Given the description of an element on the screen output the (x, y) to click on. 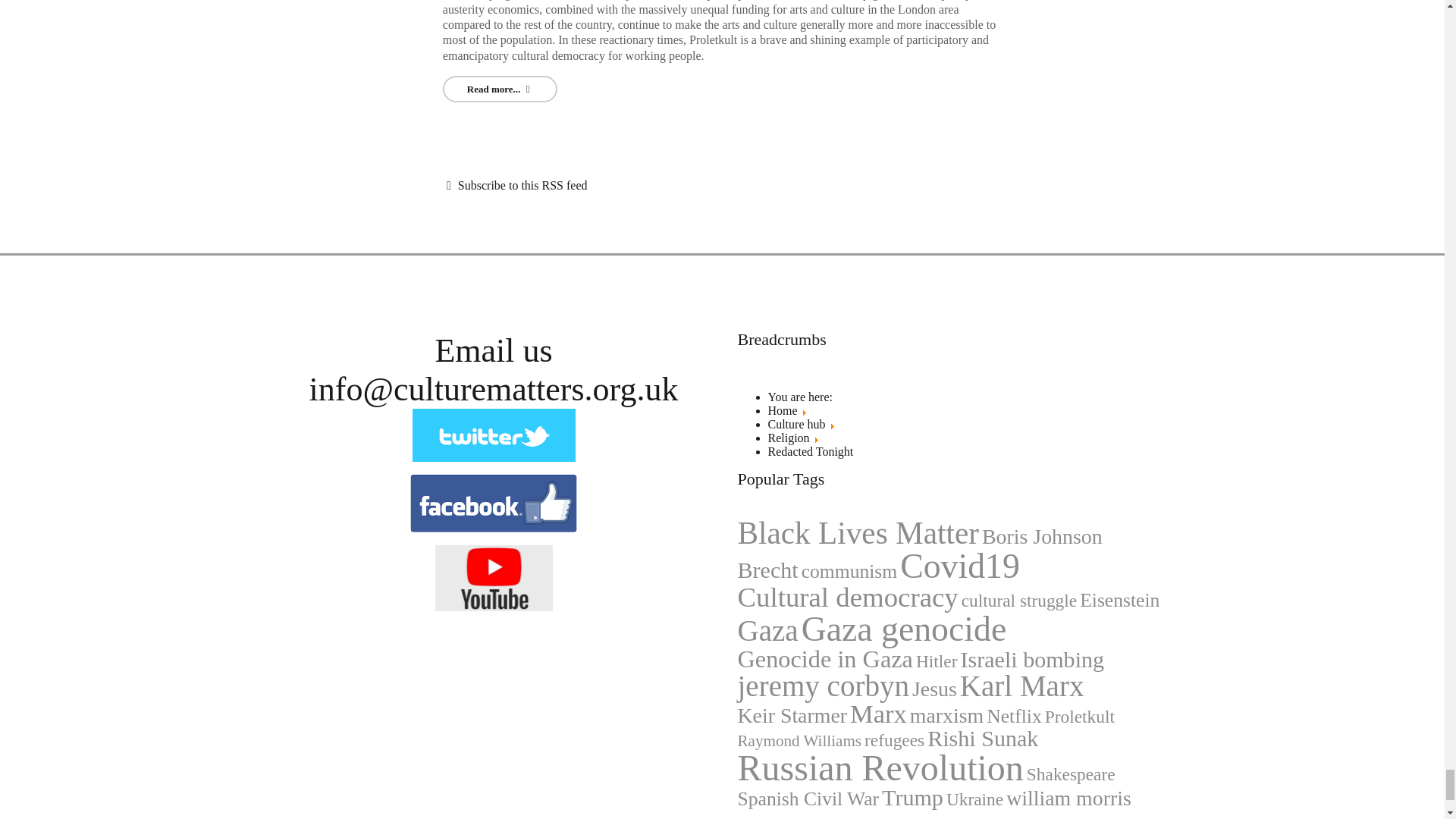
16 items tagged with Covid19 (959, 565)
14 items tagged with Black Lives Matter (857, 532)
12 items tagged with Cultural democracy (847, 597)
7 items tagged with communism (850, 571)
Subscribe to this RSS feed (515, 185)
6 items tagged with cultural struggle (1018, 600)
7 items tagged with Eisenstein (1119, 600)
9 items tagged with Brecht (766, 569)
13 items tagged with Gaza (766, 630)
16 items tagged with Gaza genocide (904, 629)
8 items tagged with Boris Johnson (1041, 536)
